Given the description of an element on the screen output the (x, y) to click on. 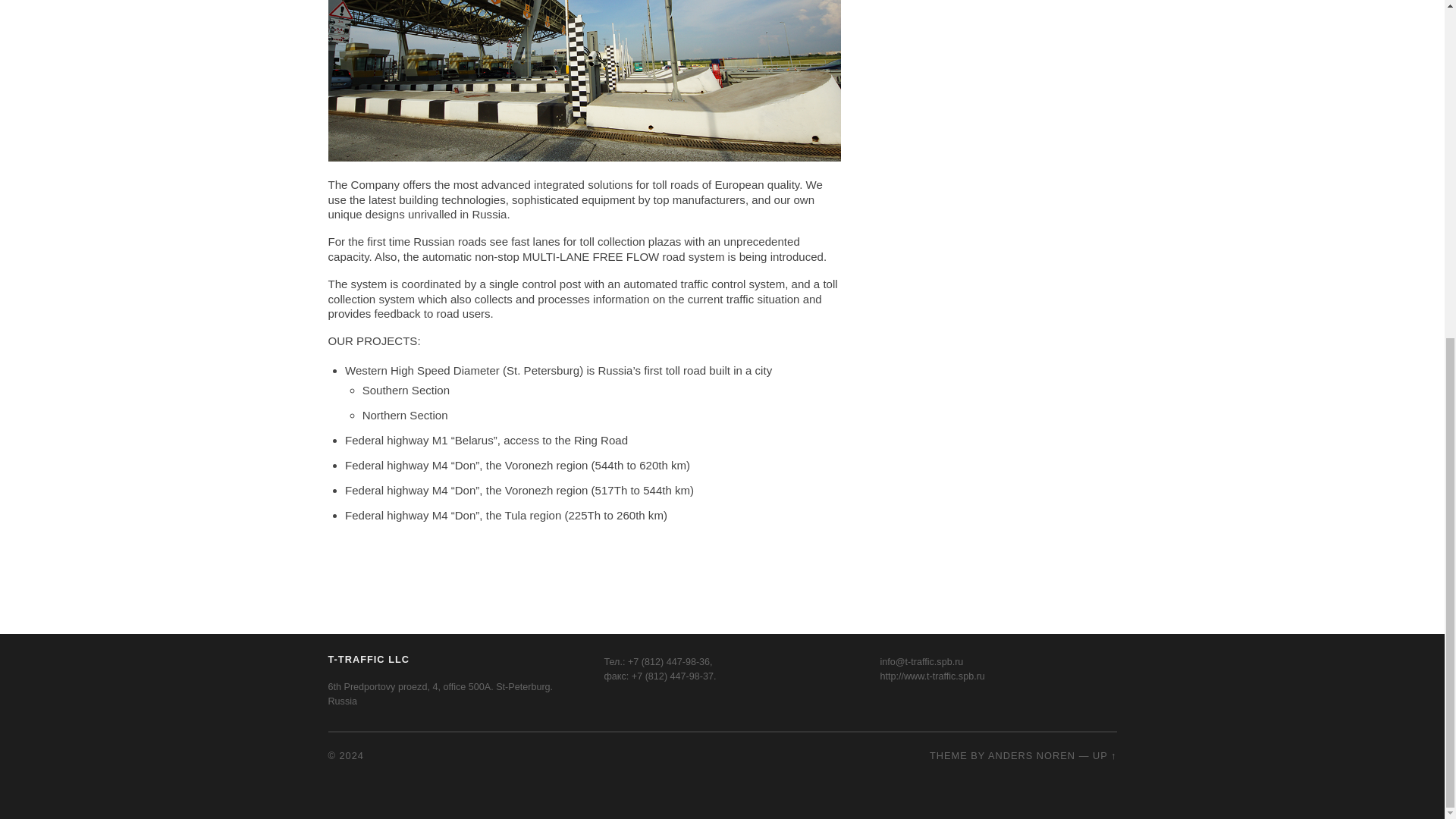
ANDERS NOREN (1031, 755)
To the top (1104, 755)
